Given the description of an element on the screen output the (x, y) to click on. 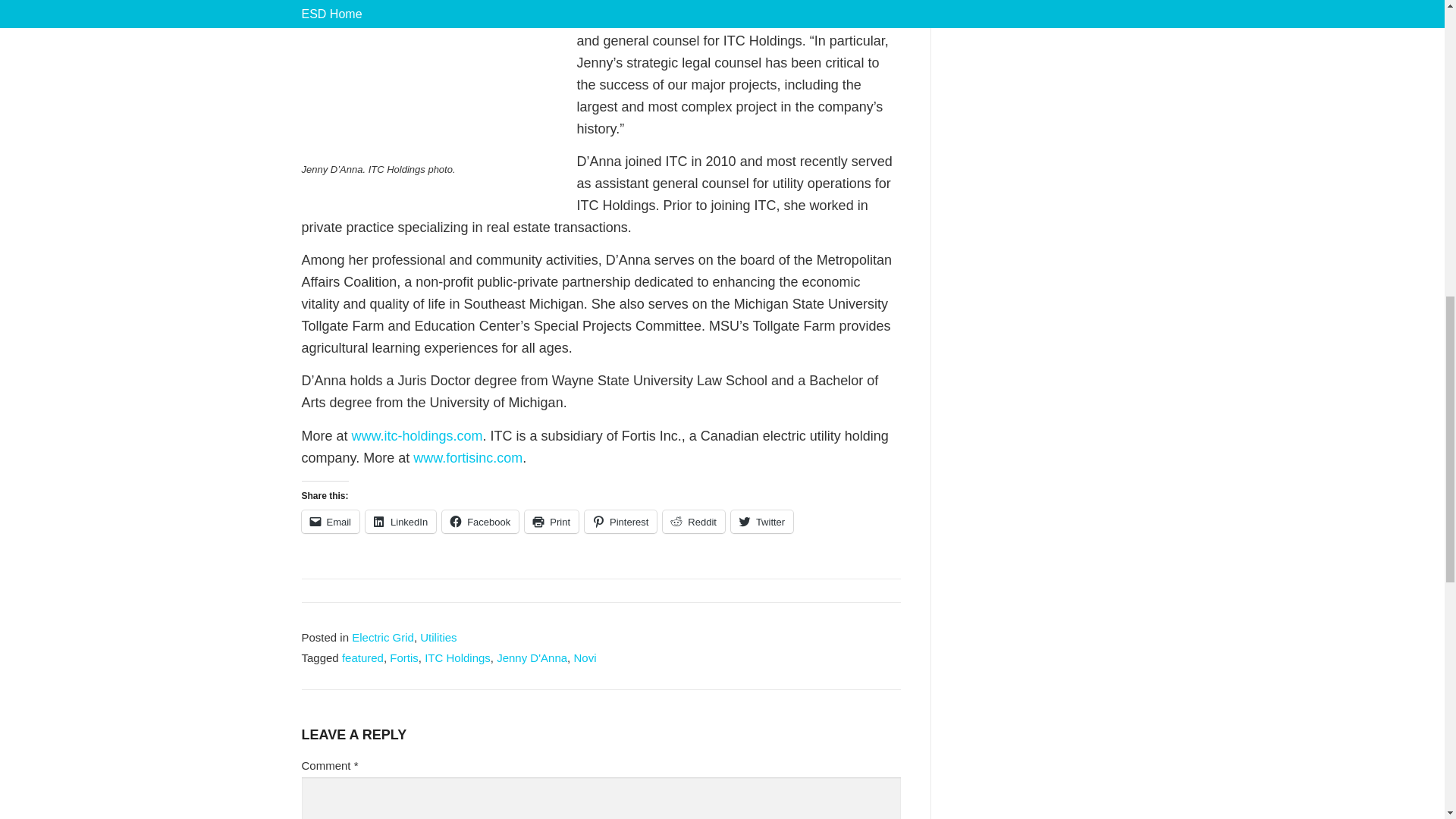
Twitter (761, 521)
Click to print (551, 521)
featured (363, 657)
Utilities (438, 636)
Fortis (404, 657)
www.fortisinc.com (467, 458)
Jenny D'Anna (531, 657)
Click to share on Pinterest (620, 521)
Email (330, 521)
Electric Grid (382, 636)
